Given the description of an element on the screen output the (x, y) to click on. 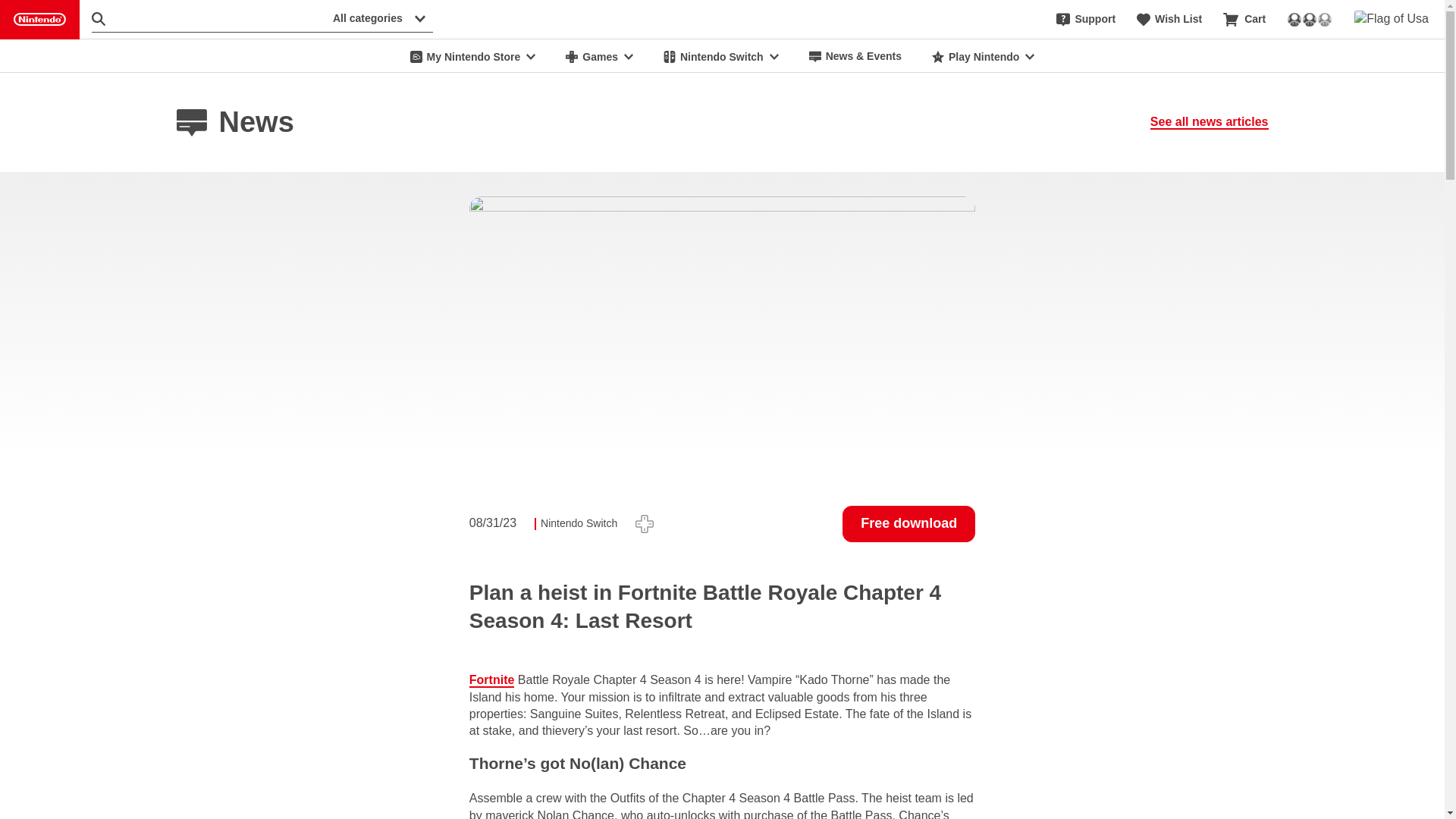
Cart (1244, 19)
Play Nintendo (983, 56)
Free download (909, 524)
Support (1086, 19)
Nintendo Switch (720, 56)
See all news articles (1209, 121)
Games (599, 56)
Nintendo (40, 19)
My Nintendo Store (472, 56)
Wish List (1169, 19)
